Given the description of an element on the screen output the (x, y) to click on. 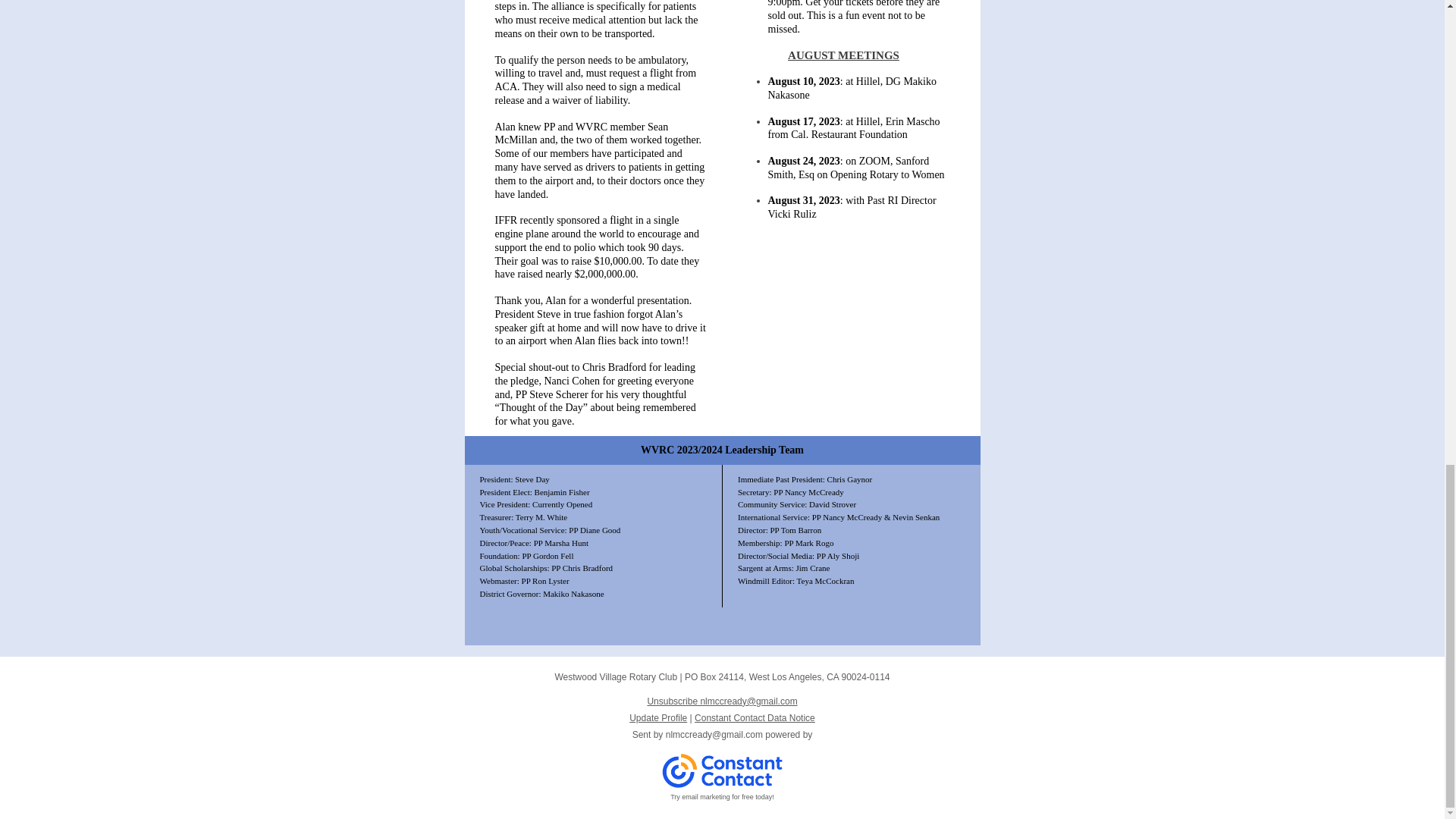
Try email marketing for free today! (721, 796)
Update Profile (657, 717)
Constant Contact Data Notice (754, 717)
